Given the description of an element on the screen output the (x, y) to click on. 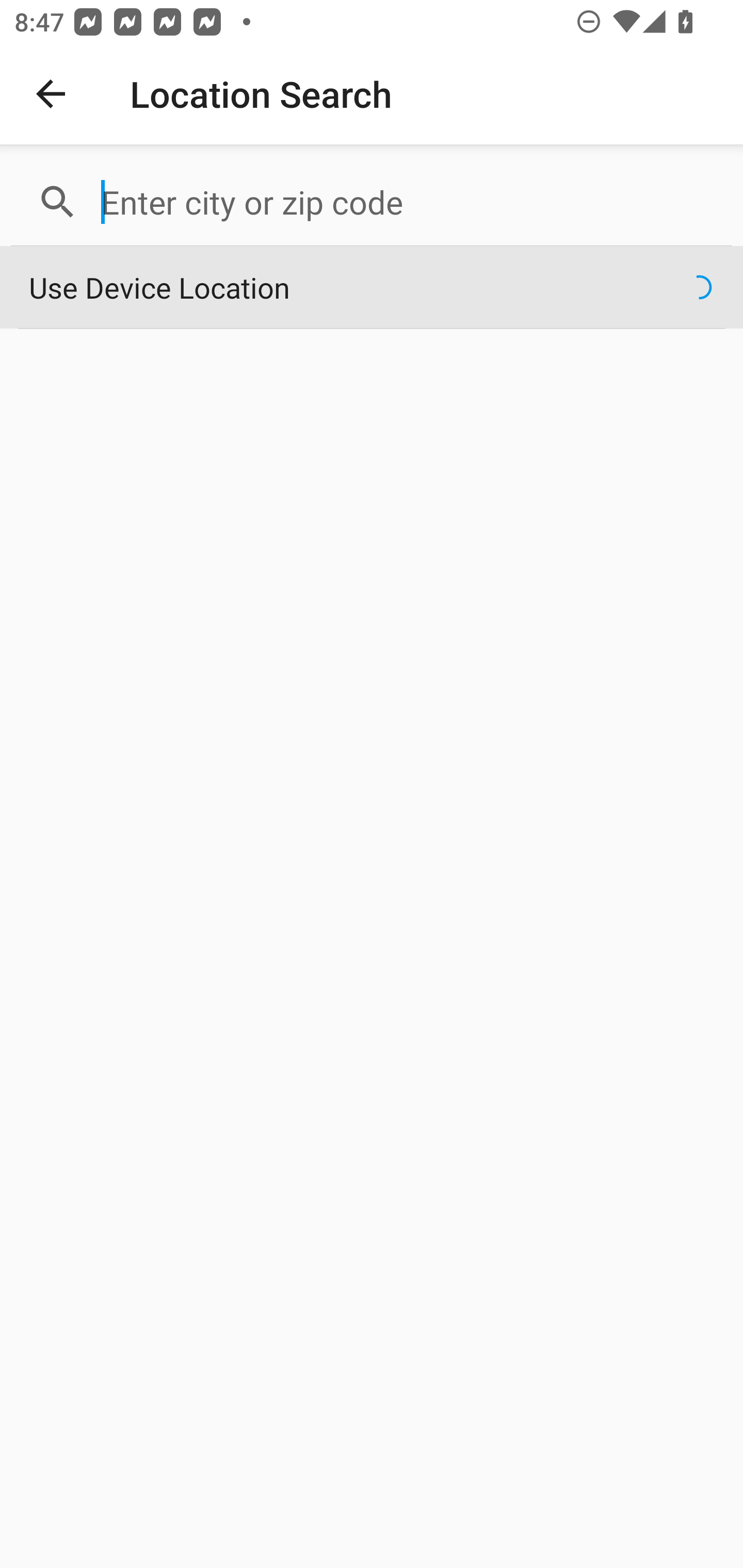
Navigate up (50, 93)
Enter city or zip code (407, 202)
Use Device Location (371, 287)
